Given the description of an element on the screen output the (x, y) to click on. 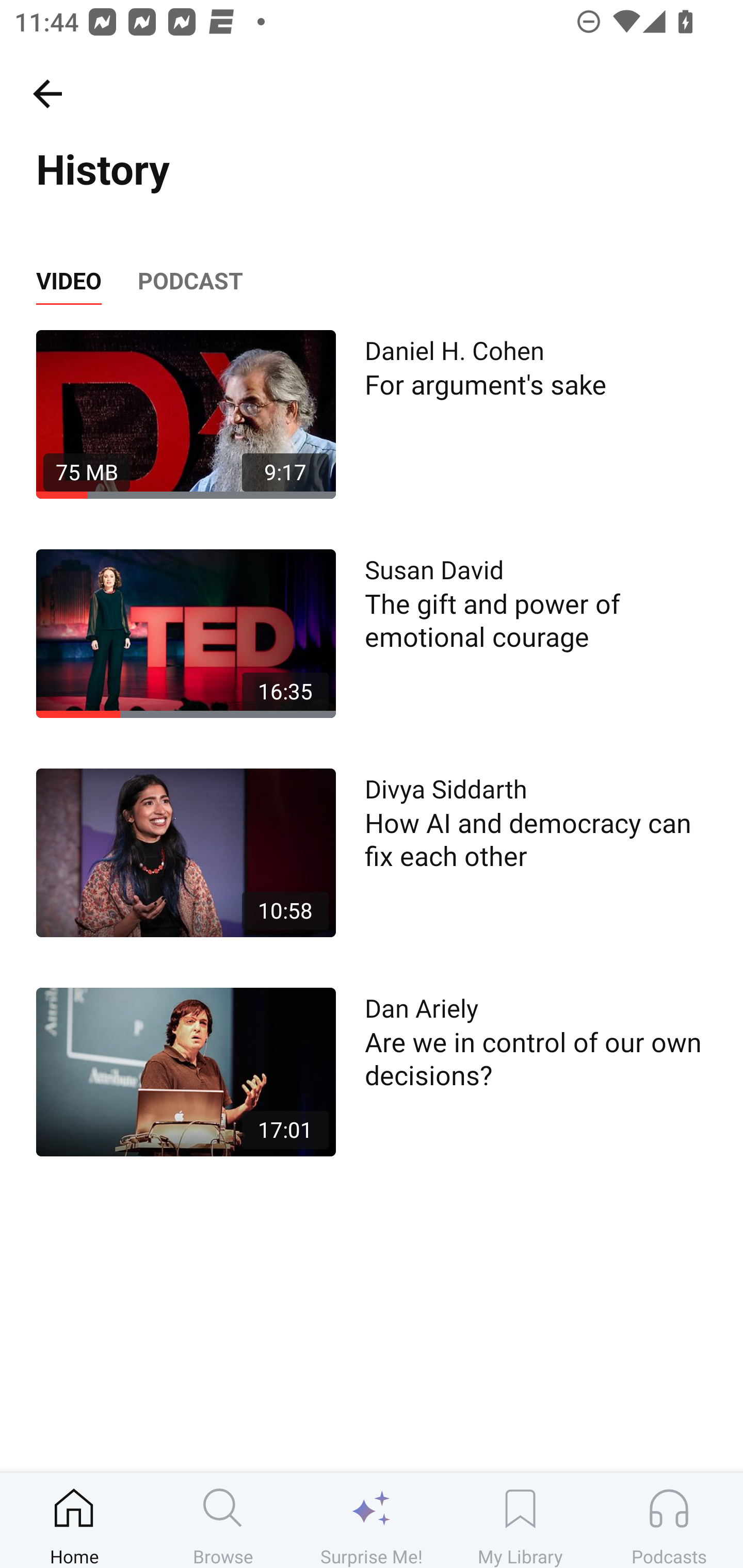
My Profile, back (47, 92)
VIDEO (68, 281)
PODCAST (189, 281)
75 MB 9:17 Daniel H. Cohen For argument's sake (371, 413)
Home (74, 1520)
Browse (222, 1520)
Surprise Me! (371, 1520)
My Library (519, 1520)
Podcasts (668, 1520)
